Given the description of an element on the screen output the (x, y) to click on. 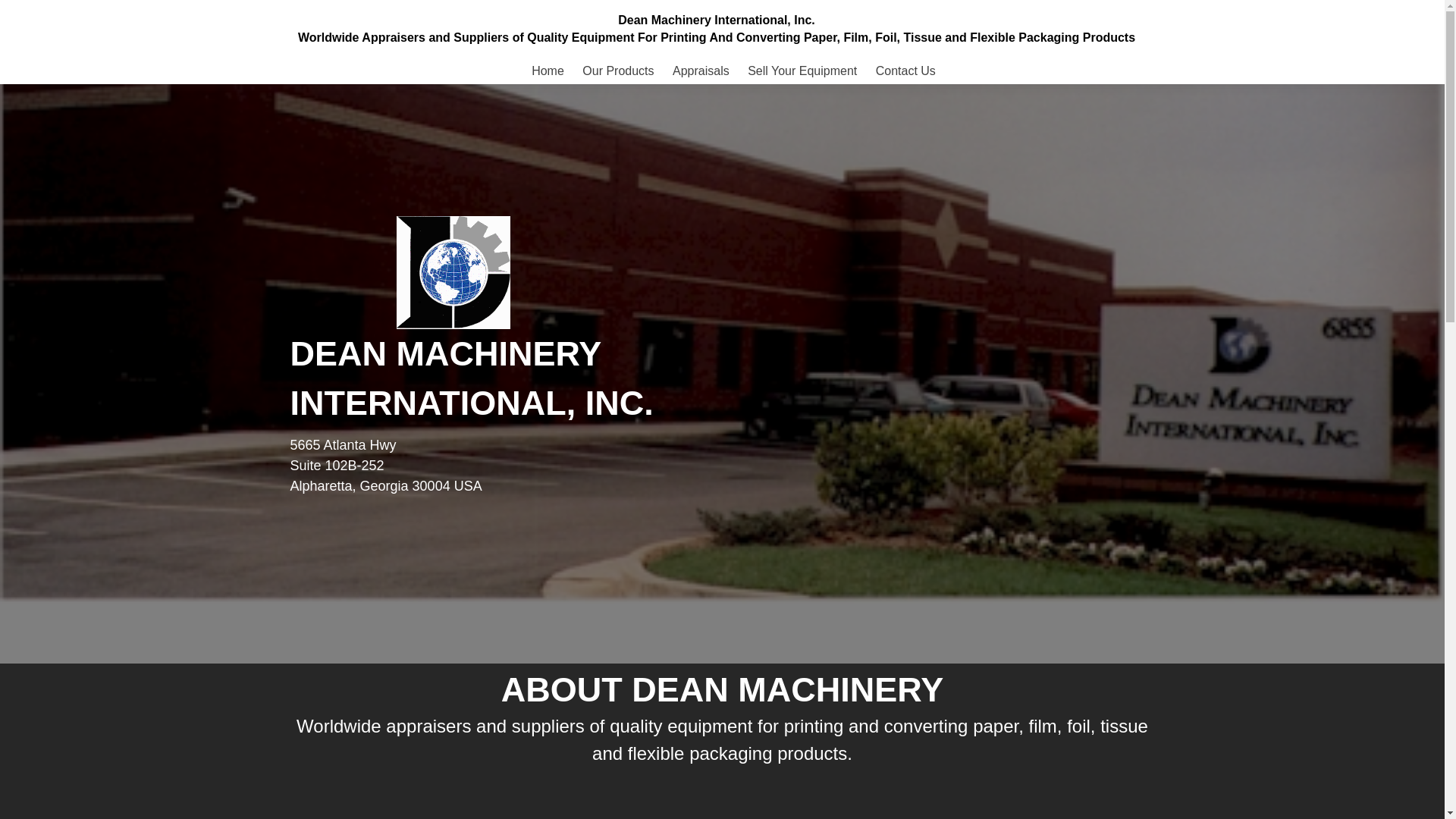
Our Products (617, 70)
Appraisals (700, 70)
Dean Machinery International, Inc. (716, 19)
Sell Your Equipment (802, 70)
Skip to content (341, 66)
Contact Us (906, 70)
Home (547, 70)
